Given the description of an element on the screen output the (x, y) to click on. 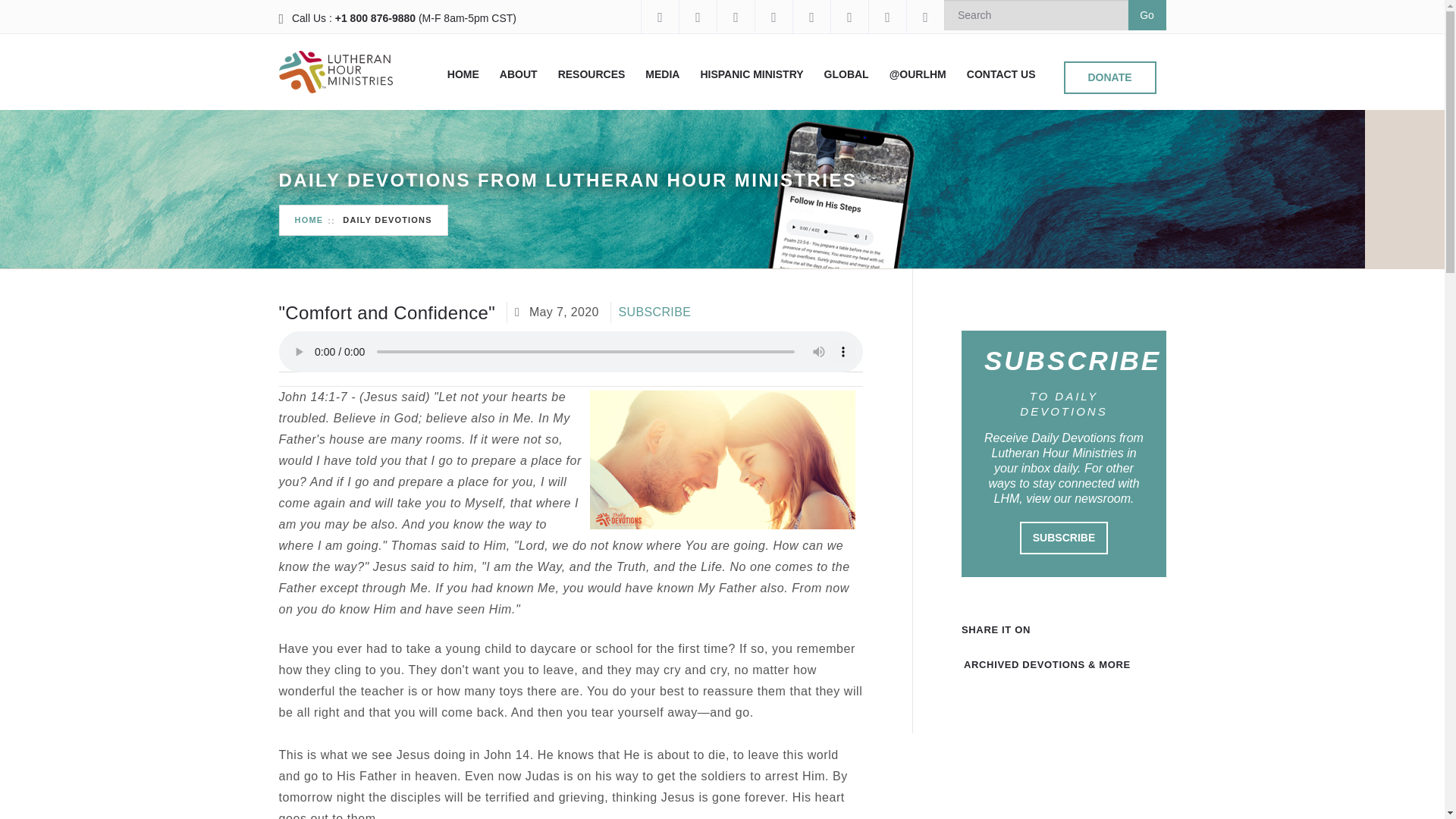
Lutheran Hour Ministries (336, 71)
CONTACT US (1000, 74)
MEDIA (662, 74)
HOME (462, 74)
RESOURCES (591, 74)
Lutheran Hour Ministries Facebook (659, 16)
ABOUT (518, 74)
Mobile Apps (886, 16)
GLOBAL (846, 74)
Lutheran Hour Ministries Instagram (697, 16)
Go (1147, 15)
Resources and Training (591, 74)
Lutheran Hour Ministries Vimeo (810, 16)
Go (1147, 15)
HISPANIC MINISTRY (751, 74)
